Given the description of an element on the screen output the (x, y) to click on. 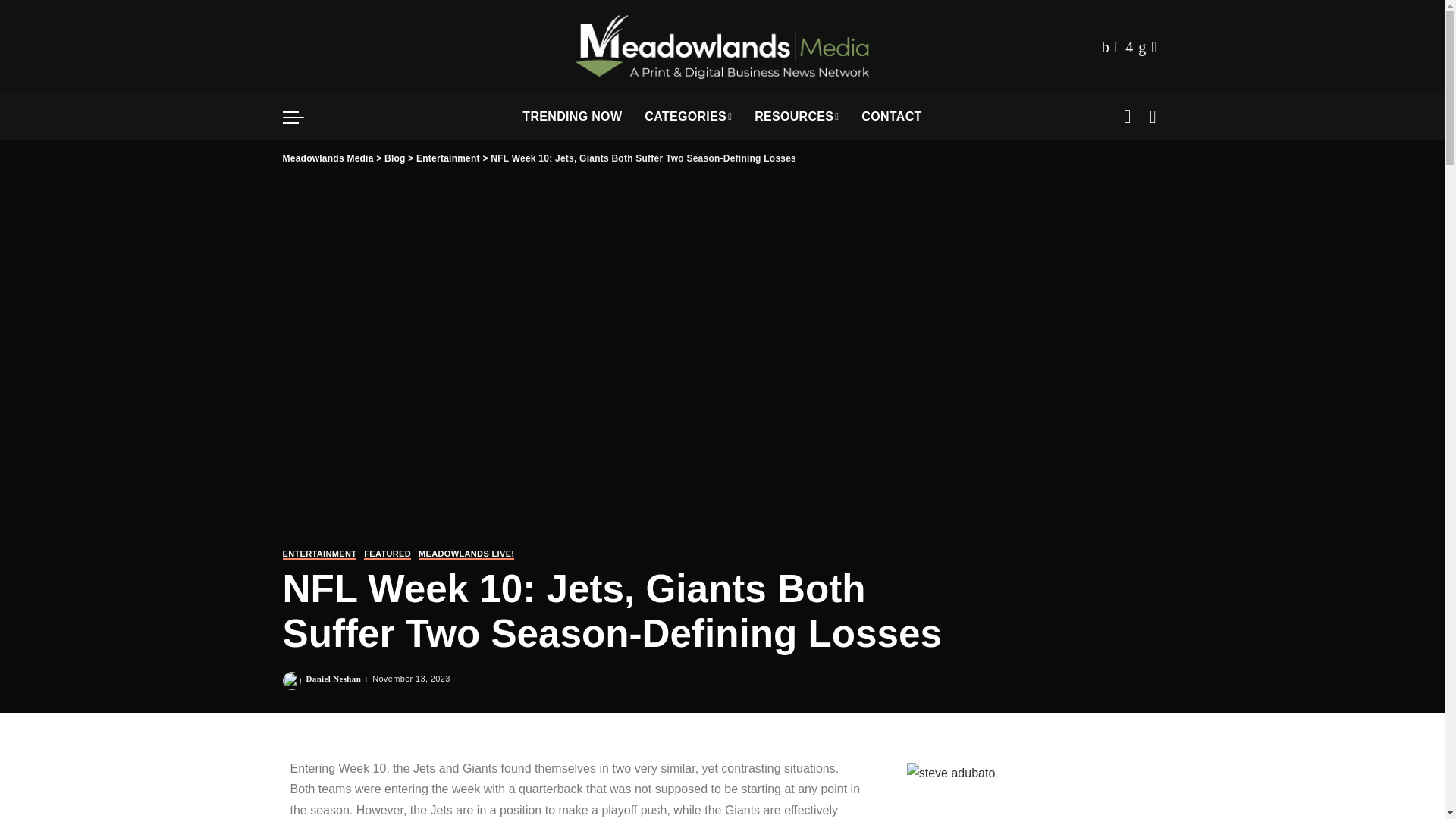
Meadowlands Media (722, 46)
